Given the description of an element on the screen output the (x, y) to click on. 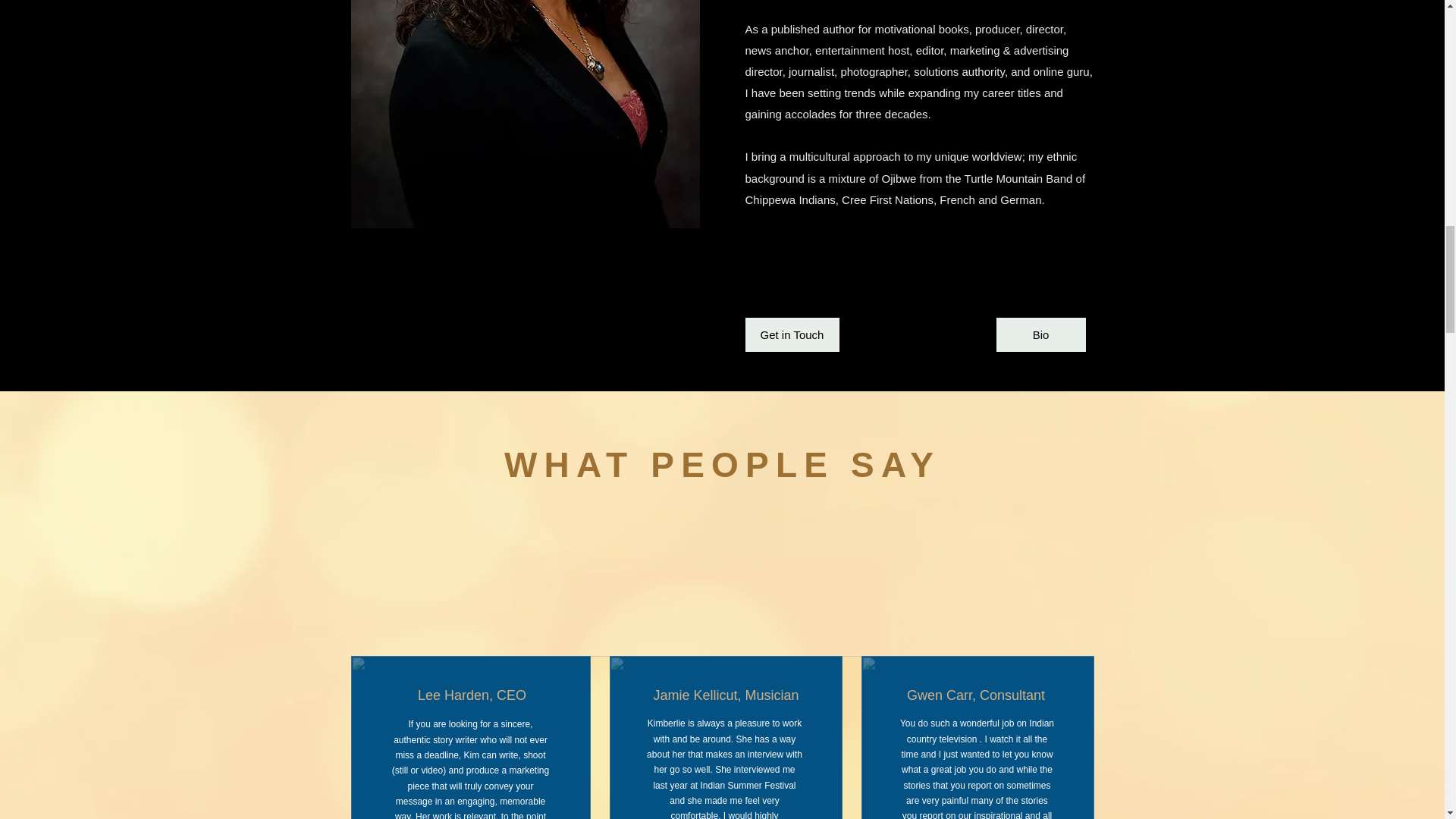
Get in Touch (791, 334)
Bio (1040, 334)
